Given the description of an element on the screen output the (x, y) to click on. 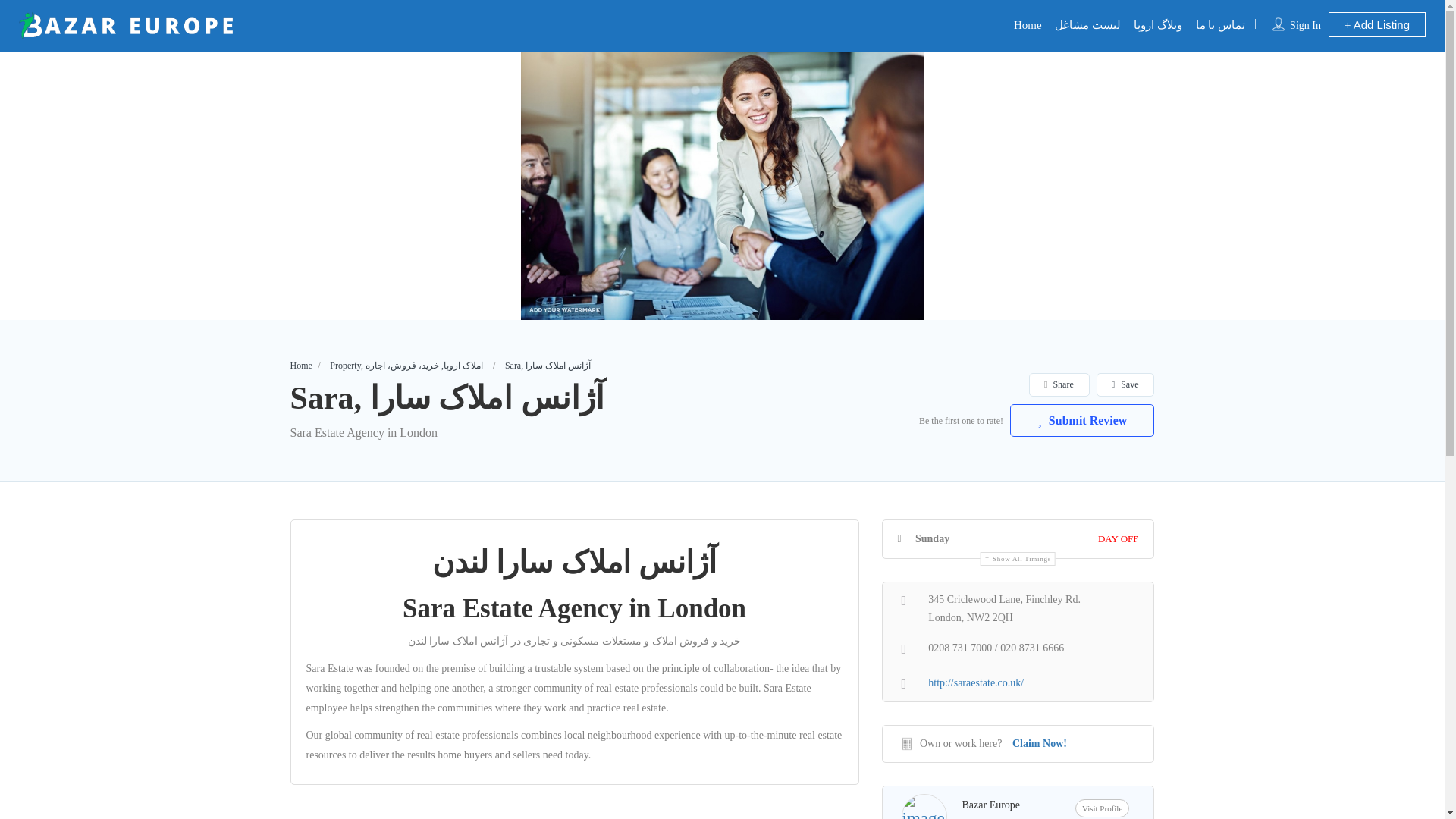
Bazar Europe (1027, 24)
345 Criclewood Lane, Finchley Rd. London, NW2 2QH (1018, 606)
Show All Timings (1017, 558)
Contact Us (1220, 24)
Sign In (1305, 25)
Home (300, 365)
Europe Market, Blog (1158, 24)
Share (1058, 384)
Add Listing (1376, 24)
Save (1125, 384)
Home (1027, 24)
Submit (413, 502)
Submit Review (1082, 420)
DAY OFF (1117, 538)
